Given the description of an element on the screen output the (x, y) to click on. 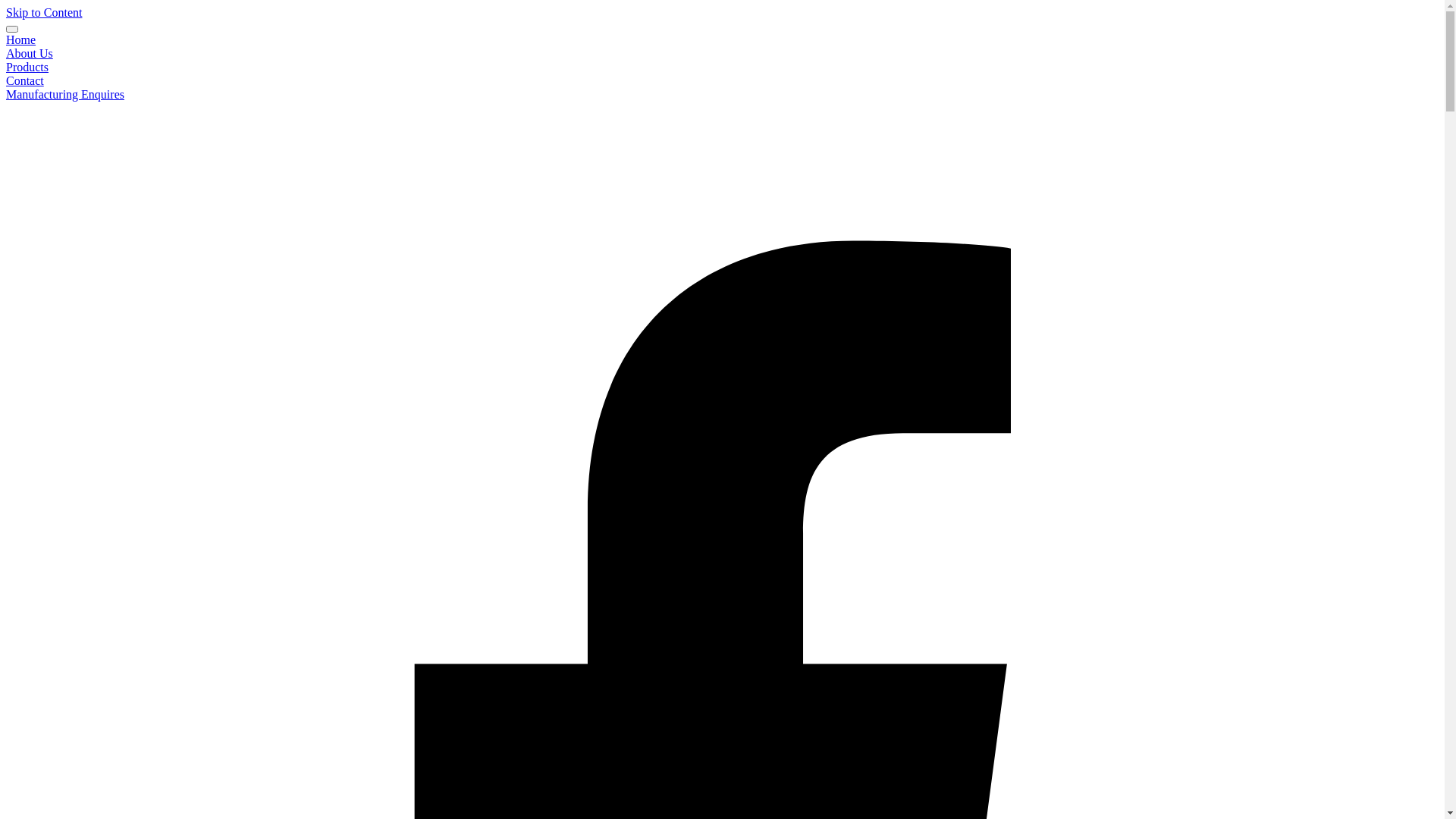
Skip to Content Element type: text (43, 12)
Contact Element type: text (24, 80)
About Us Element type: text (29, 53)
Manufacturing Enquires Element type: text (65, 93)
Products Element type: text (27, 66)
Home Element type: text (20, 39)
